Given the description of an element on the screen output the (x, y) to click on. 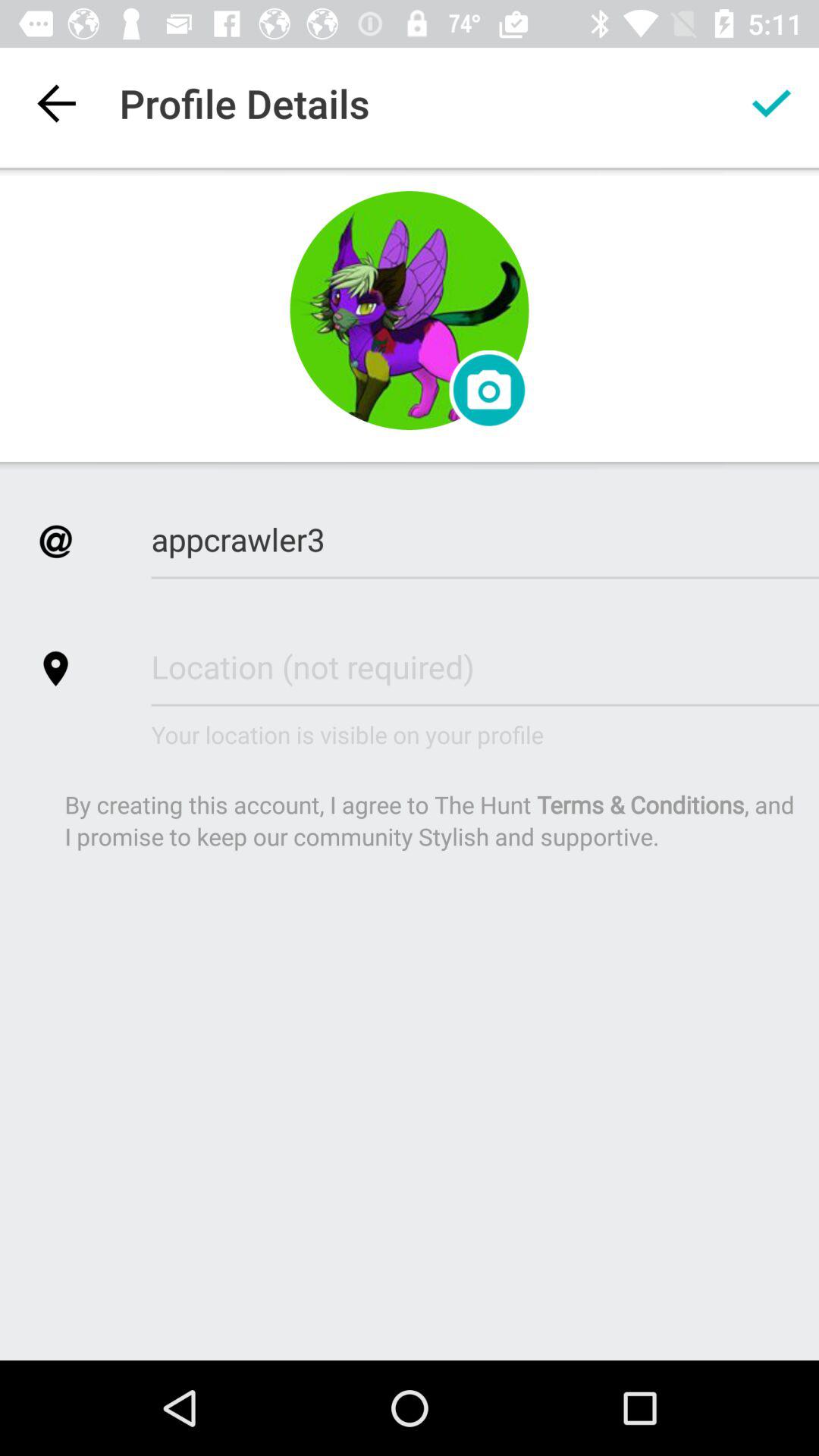
change icon photo (409, 310)
